Given the description of an element on the screen output the (x, y) to click on. 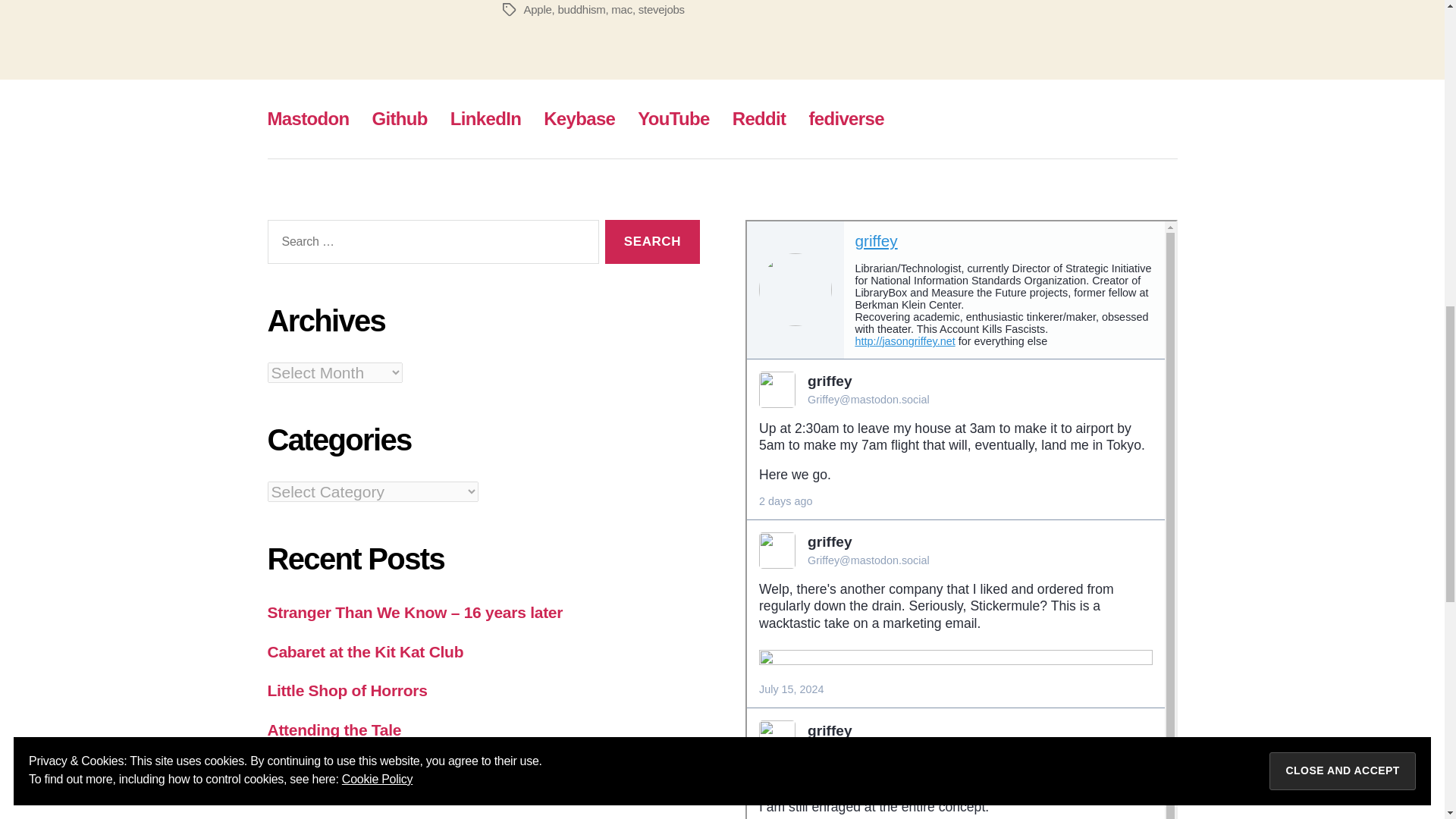
Search (651, 242)
Search (651, 242)
